Given the description of an element on the screen output the (x, y) to click on. 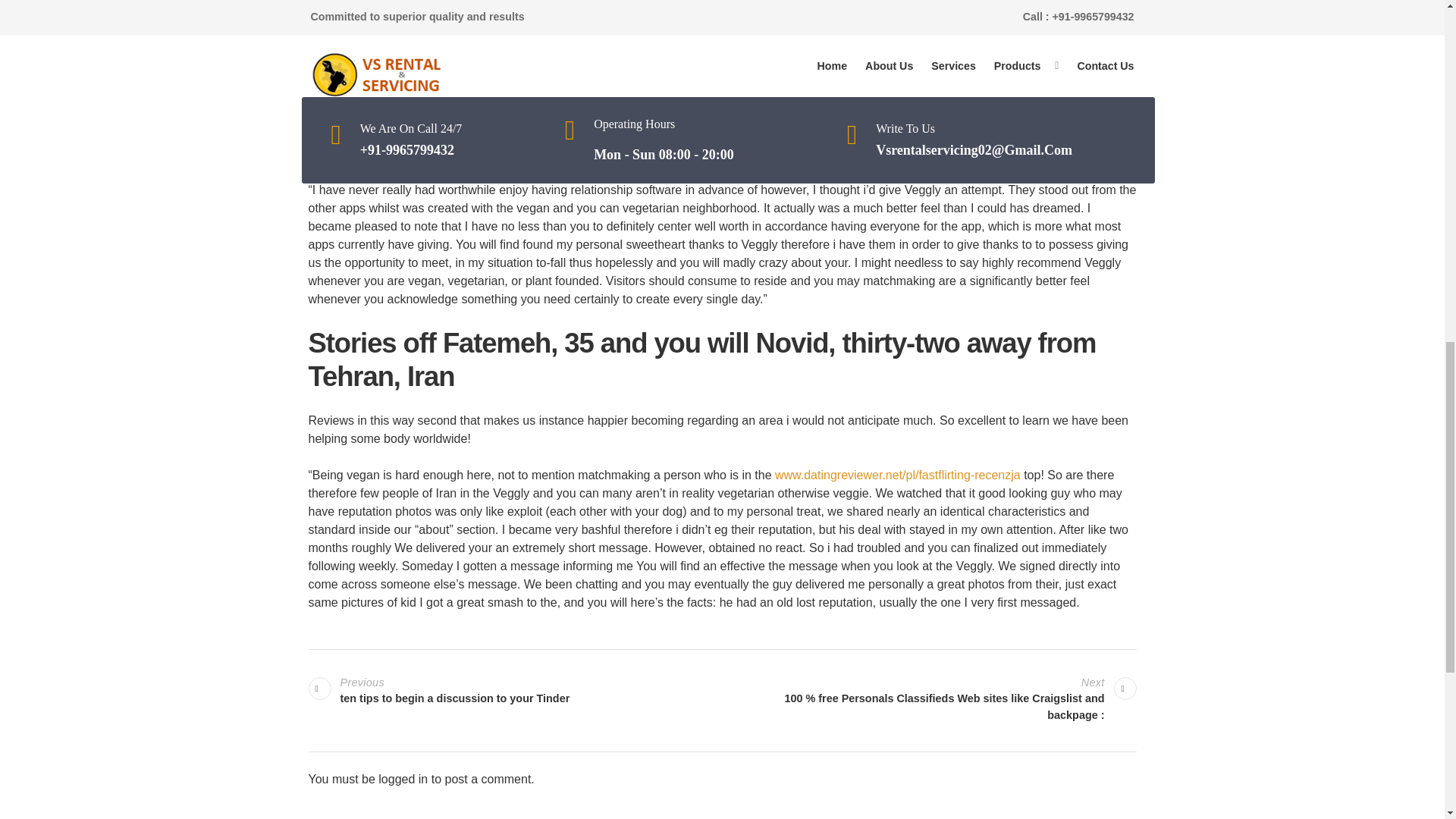
logged in (514, 690)
